Given the description of an element on the screen output the (x, y) to click on. 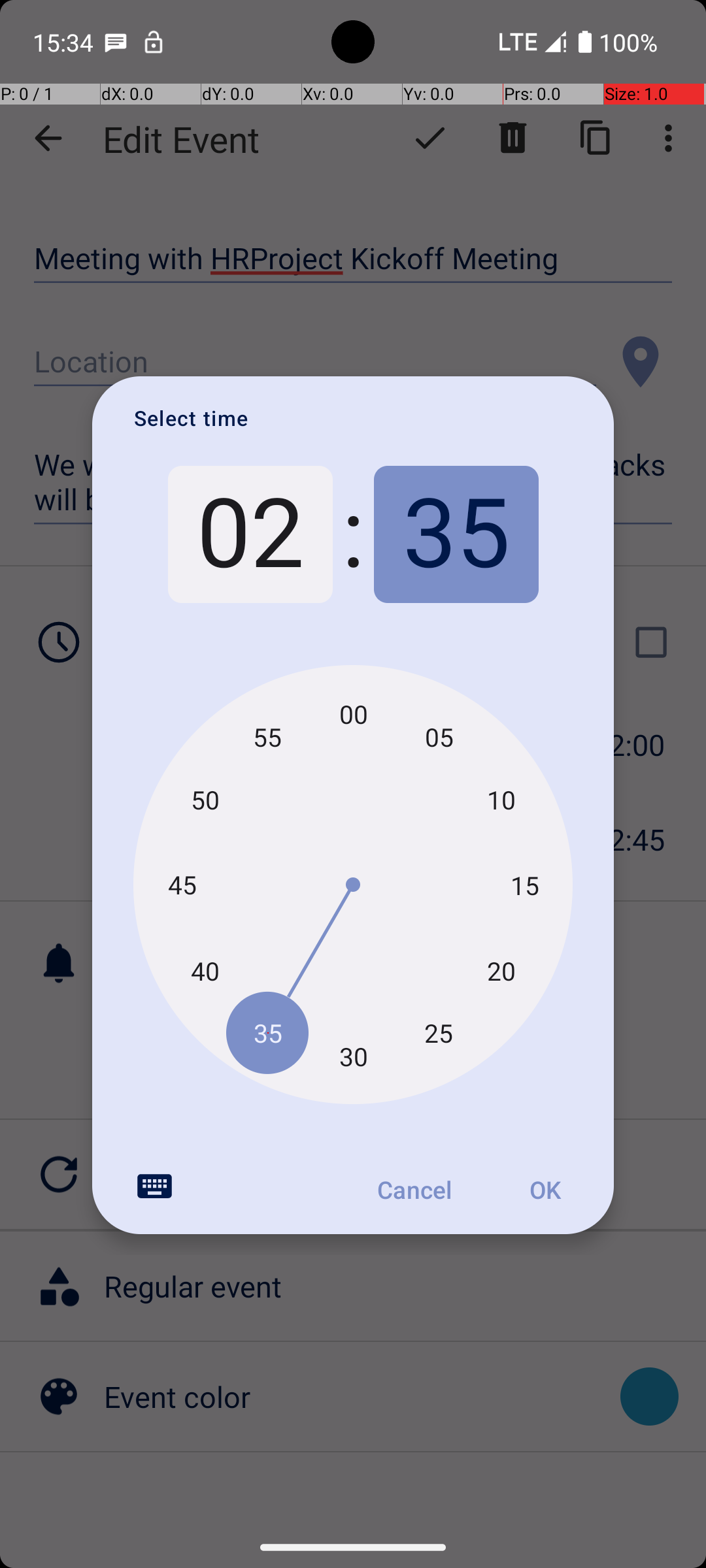
02 Element type: android.view.View (250, 534)
